Given the description of an element on the screen output the (x, y) to click on. 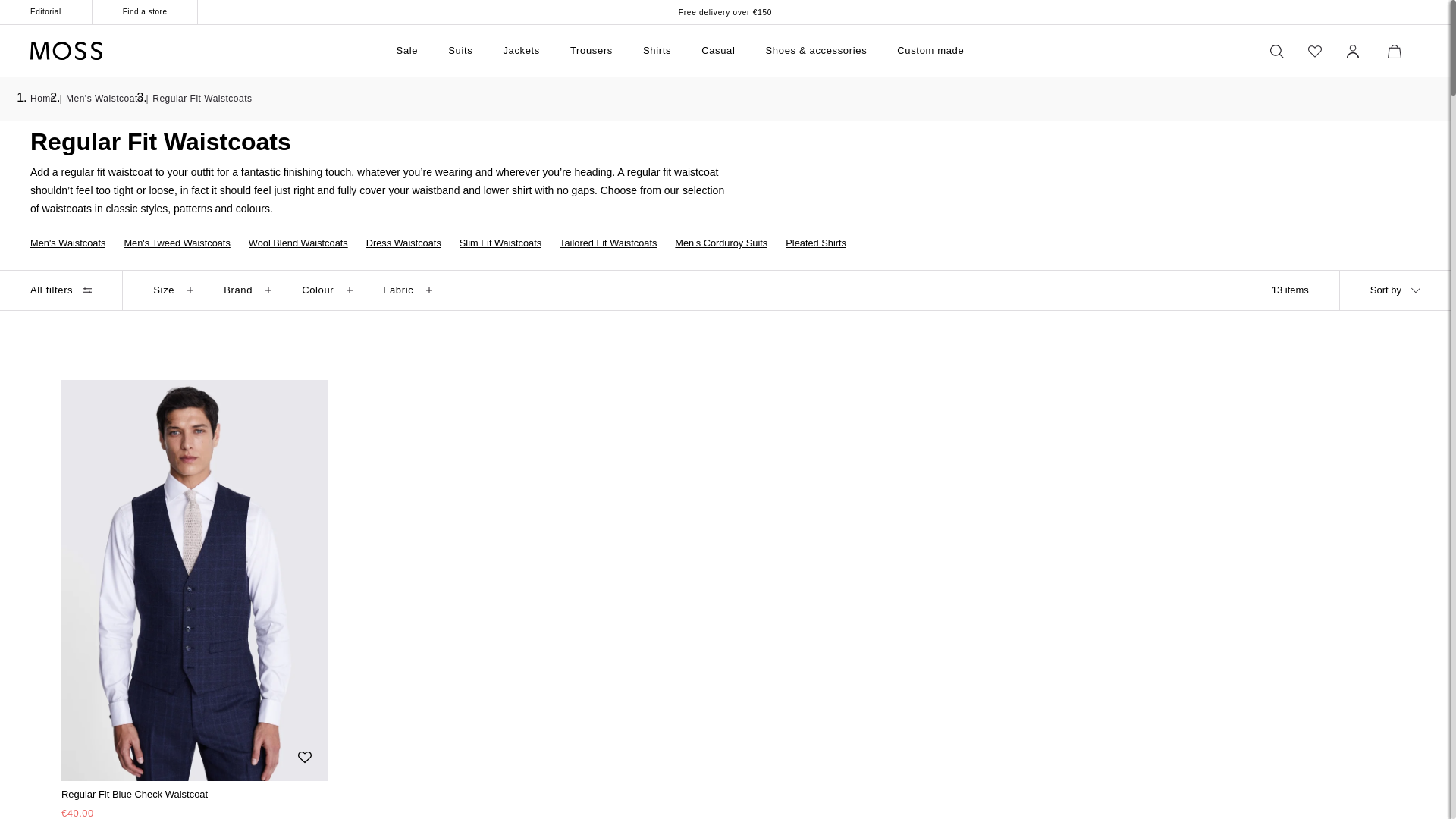
Sale (407, 50)
Regular Fit Blue Check Waistcoat (195, 795)
Editorial (46, 12)
Suits (459, 50)
Find a store (145, 12)
Regular Fit Blue Check Waistcoat 966850691 (195, 800)
Moss Logo (65, 50)
